Given the description of an element on the screen output the (x, y) to click on. 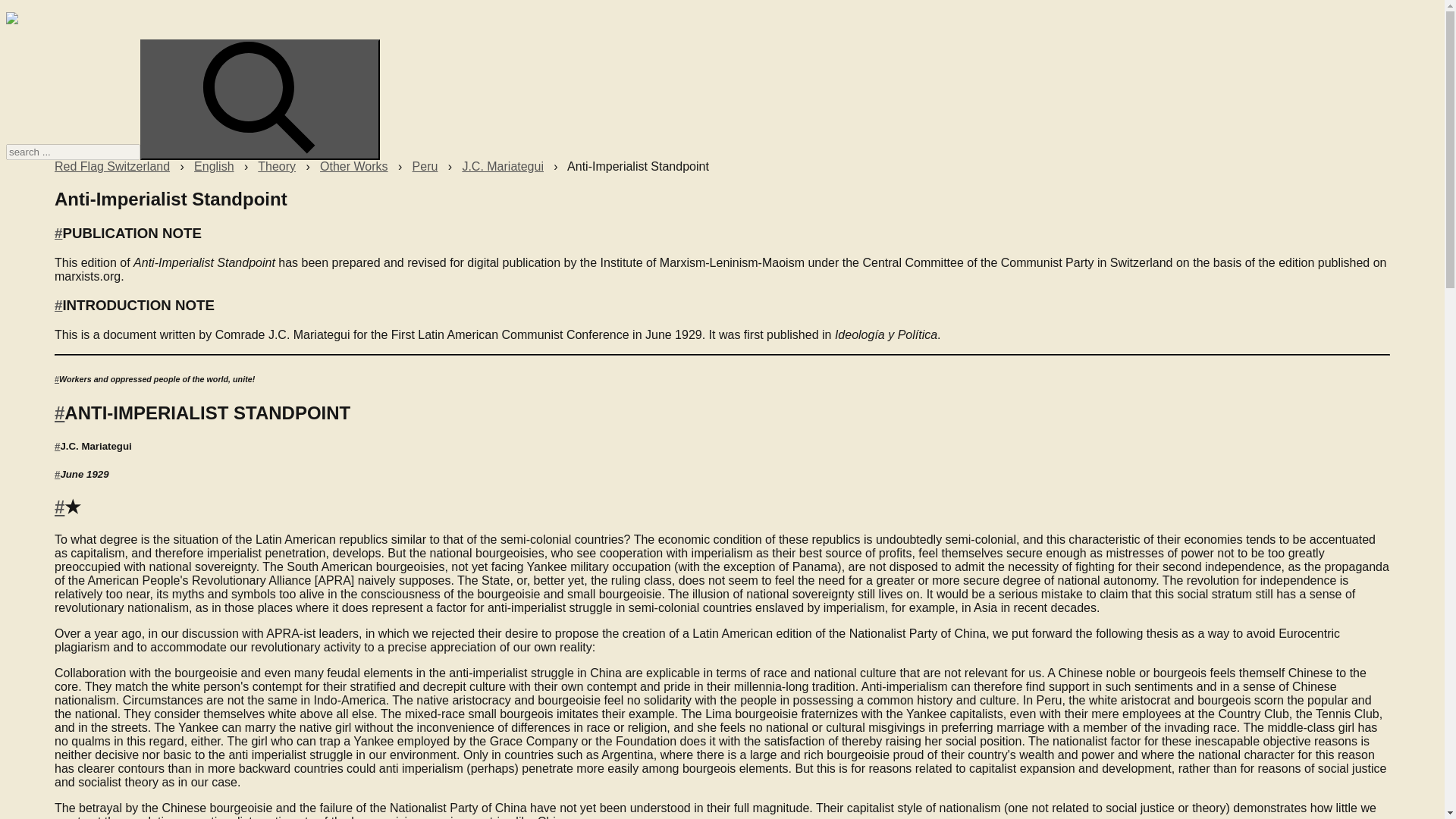
Theory (276, 165)
English (212, 165)
Other Works (354, 165)
Peru (425, 165)
My Title (11, 19)
Red Flag Switzerland (112, 165)
J.C. Mariategui (502, 165)
